Given the description of an element on the screen output the (x, y) to click on. 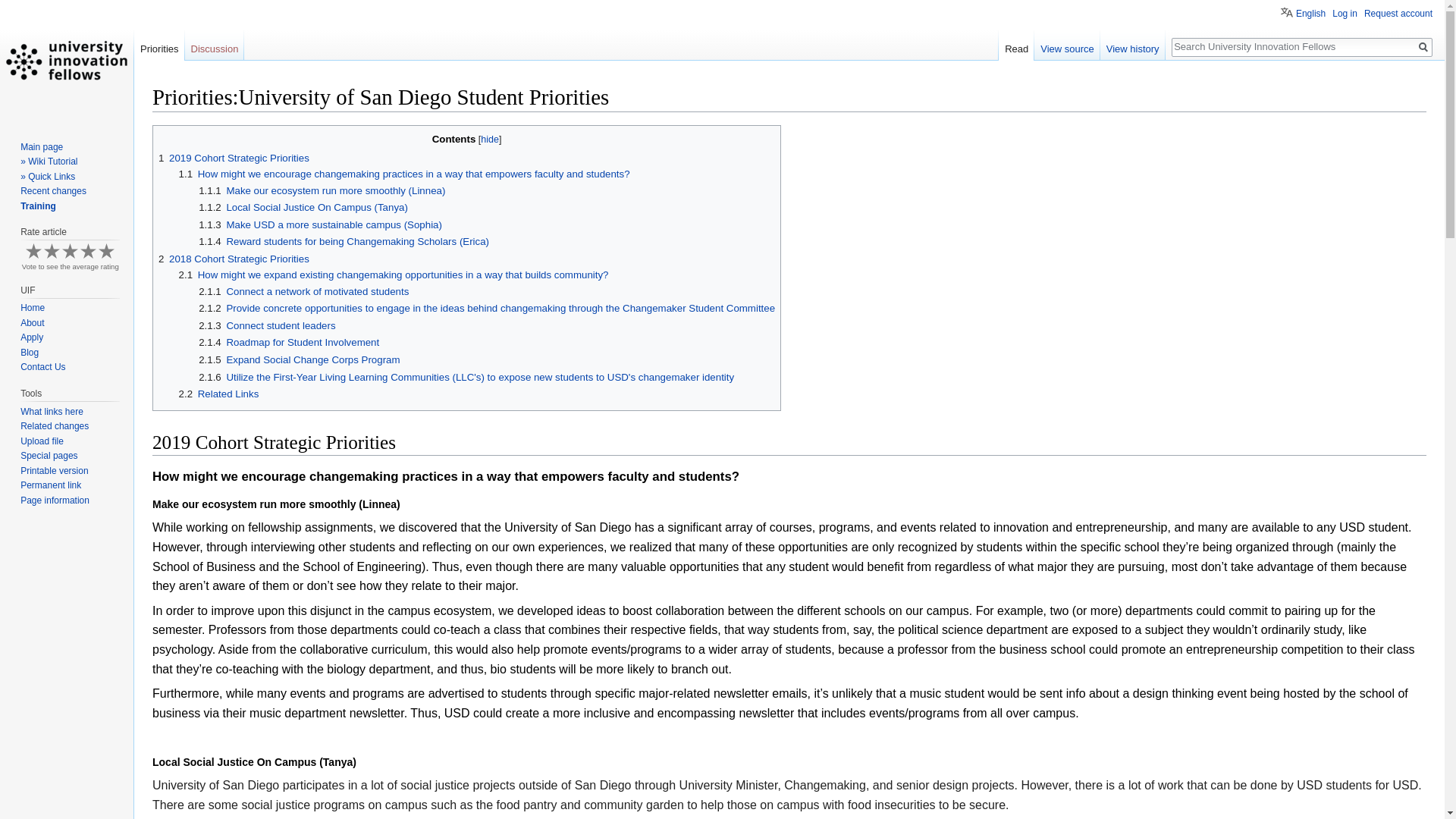
2.1.5 Expand Social Change Corps Program (298, 359)
Go (1423, 46)
2 2018 Cohort Strategic Priorities (233, 258)
2.1.3 Connect student leaders (266, 325)
Go (1423, 46)
1 2019 Cohort Strategic Priorities (233, 157)
2.1.4 Roadmap for Student Involvement (288, 342)
